Given the description of an element on the screen output the (x, y) to click on. 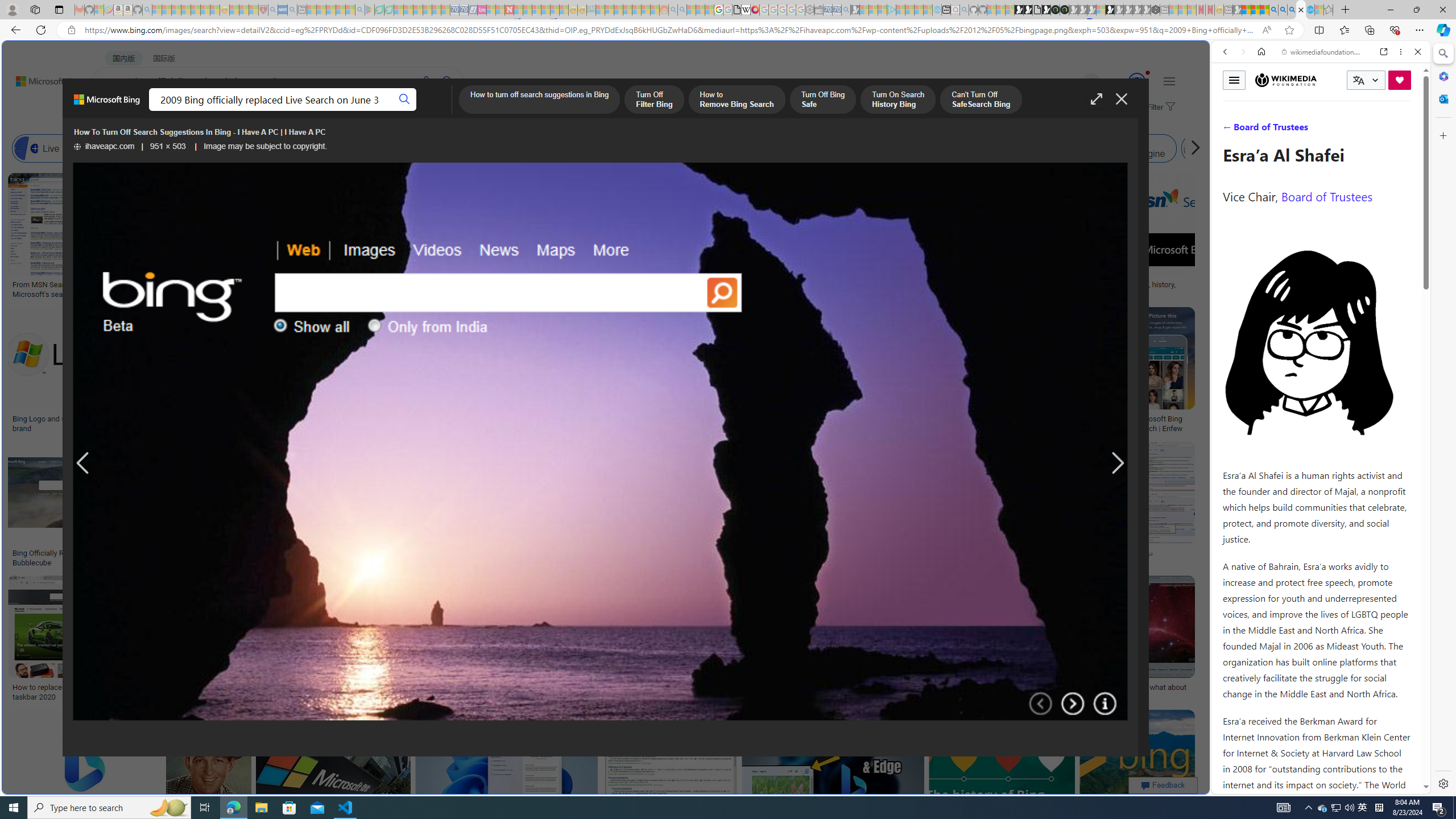
MY BING (156, 111)
WEB   (1230, 130)
Bing Logo, symbol, meaning, history, PNG, brandSave (1123, 237)
Terms of Use Agreement - Sleeping (378, 9)
